Given the description of an element on the screen output the (x, y) to click on. 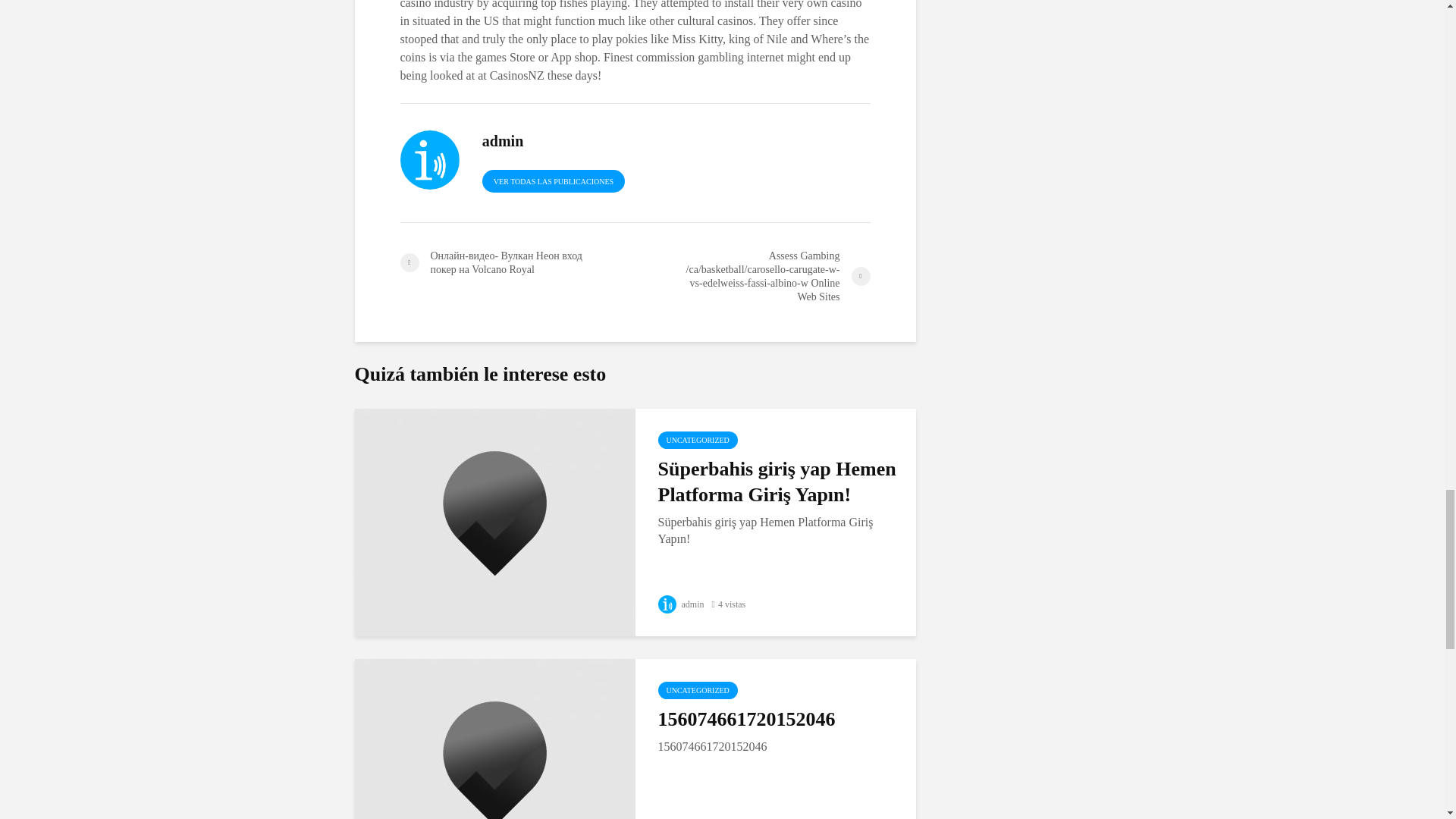
156074661720152046 (494, 770)
